Given the description of an element on the screen output the (x, y) to click on. 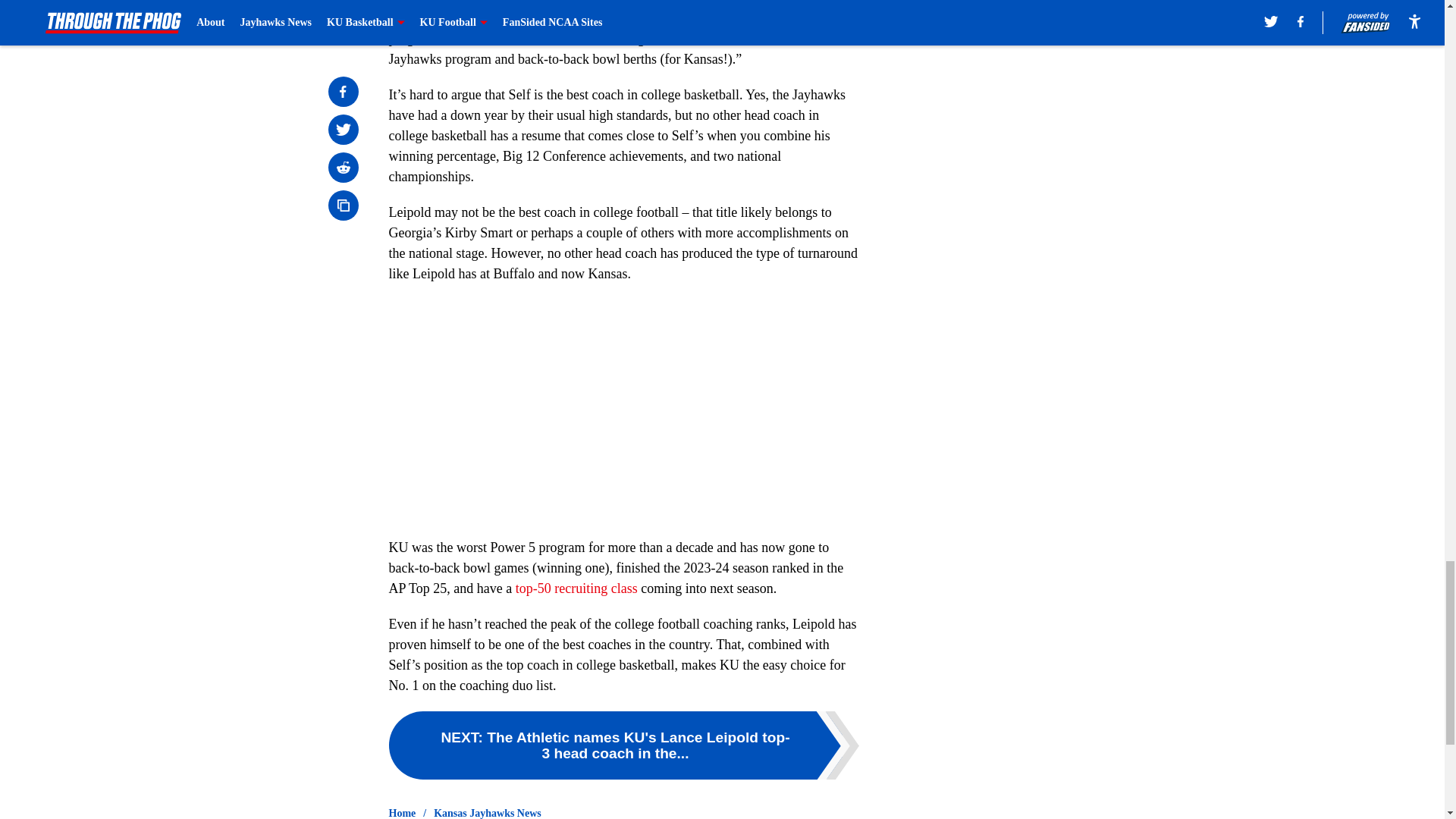
Home (401, 812)
top-50 recruiting class (576, 588)
Kansas Jayhawks News (487, 812)
